Given the description of an element on the screen output the (x, y) to click on. 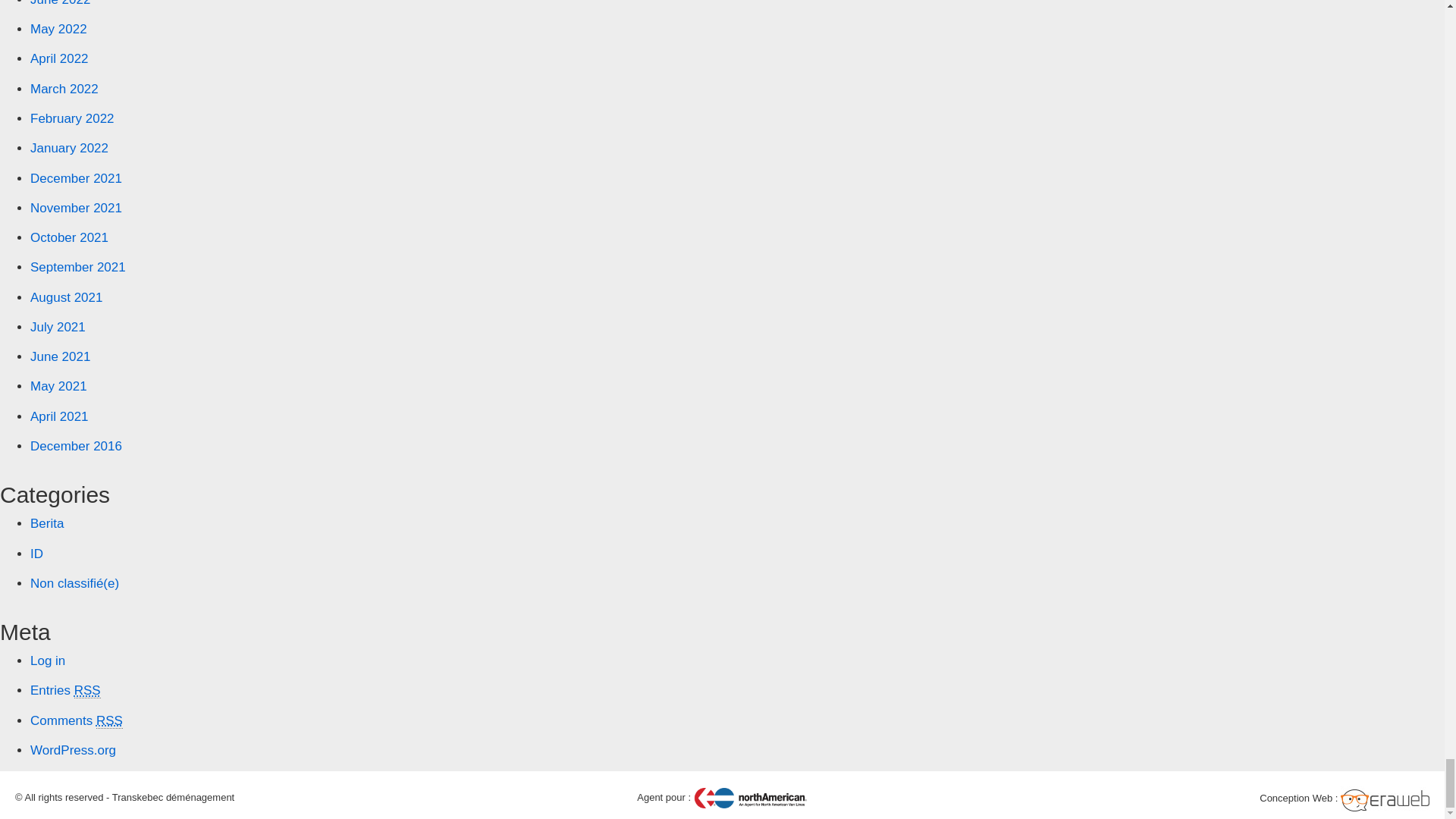
Really Simple Syndication (87, 690)
Really Simple Syndication (109, 720)
